Given the description of an element on the screen output the (x, y) to click on. 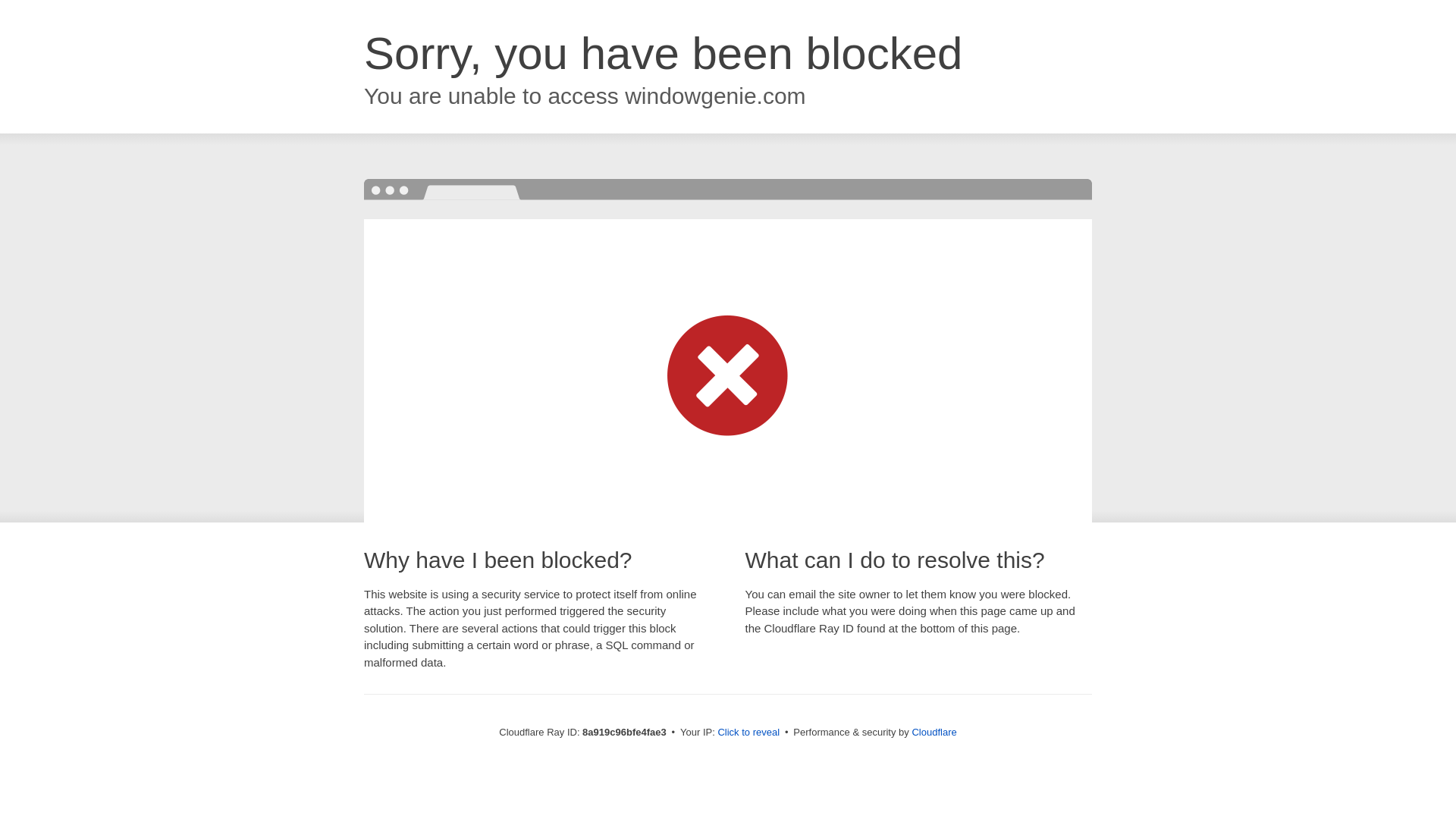
Click to reveal (747, 732)
Cloudflare (933, 731)
